Given the description of an element on the screen output the (x, y) to click on. 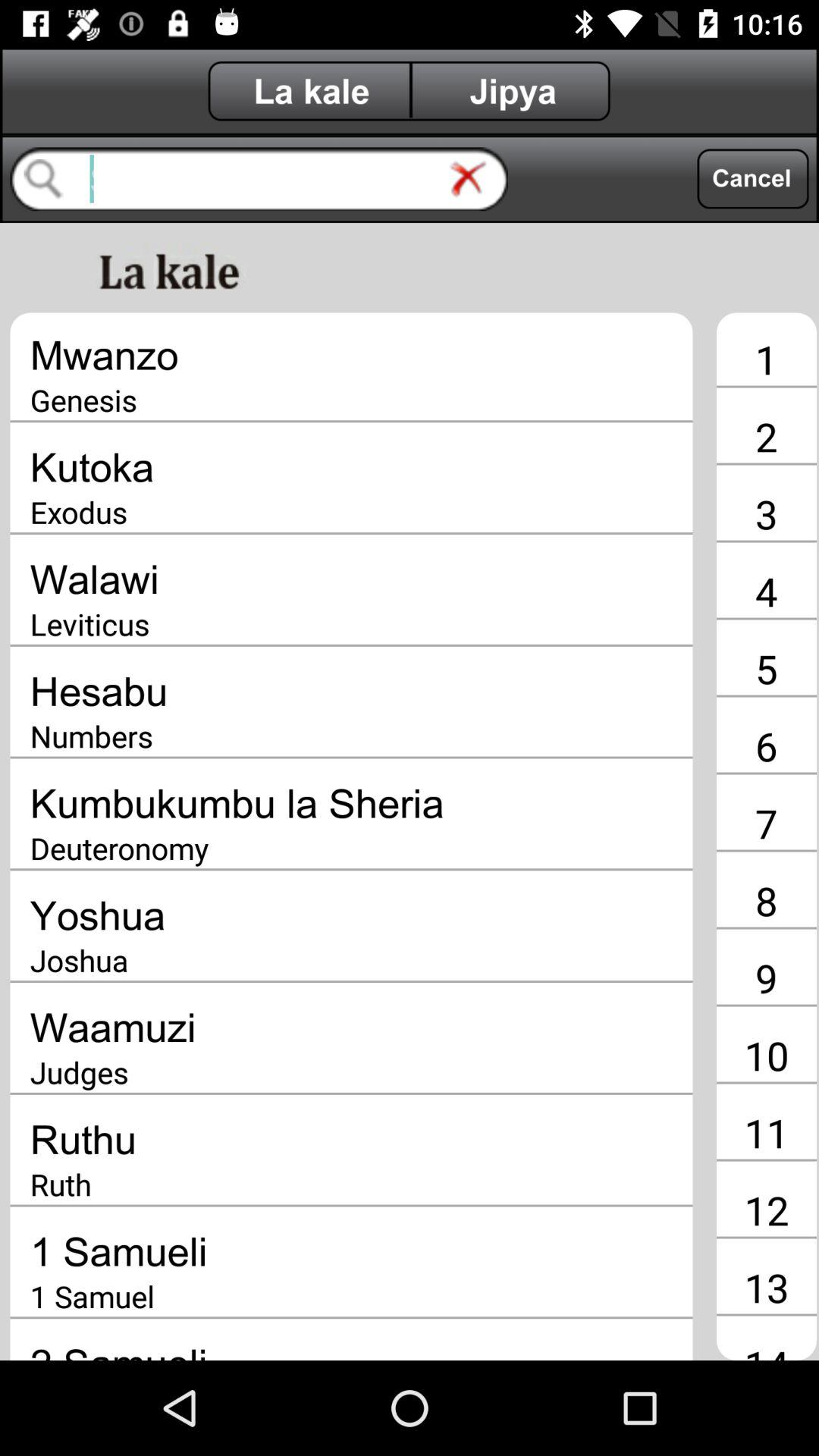
press the 11 icon (766, 1132)
